Given the description of an element on the screen output the (x, y) to click on. 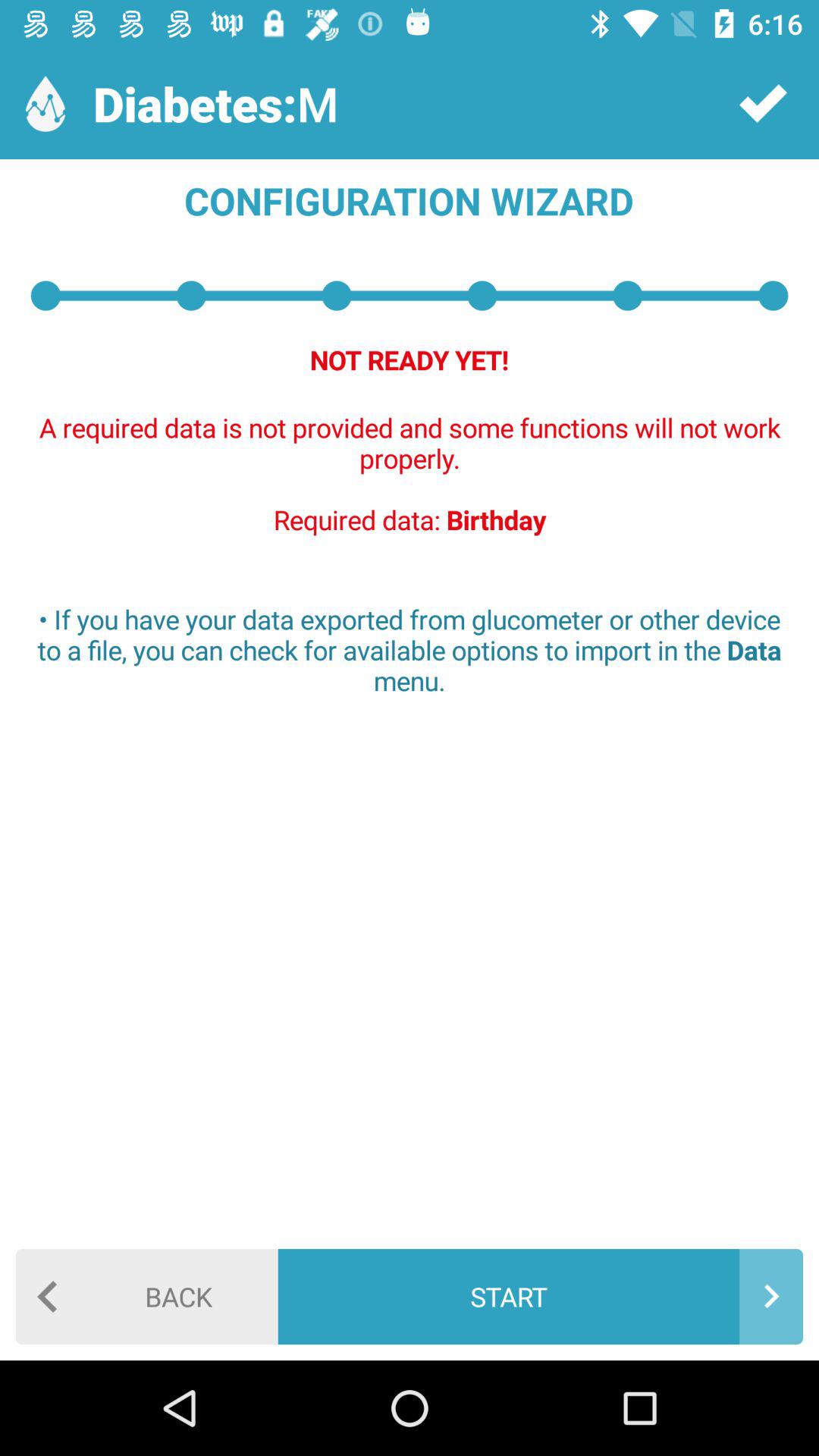
flip until back (146, 1296)
